Given the description of an element on the screen output the (x, y) to click on. 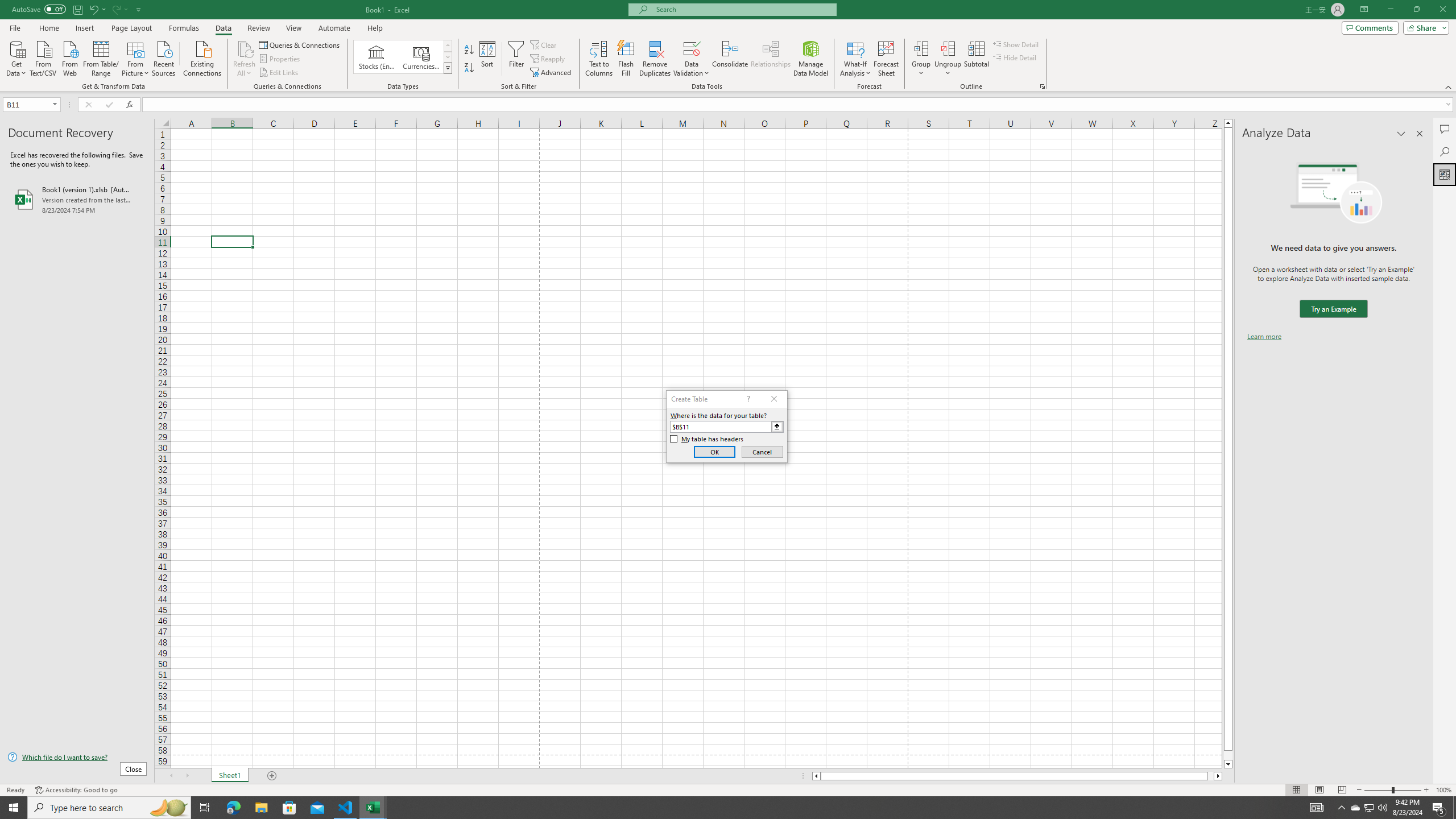
Consolidate... (729, 58)
